Given the description of an element on the screen output the (x, y) to click on. 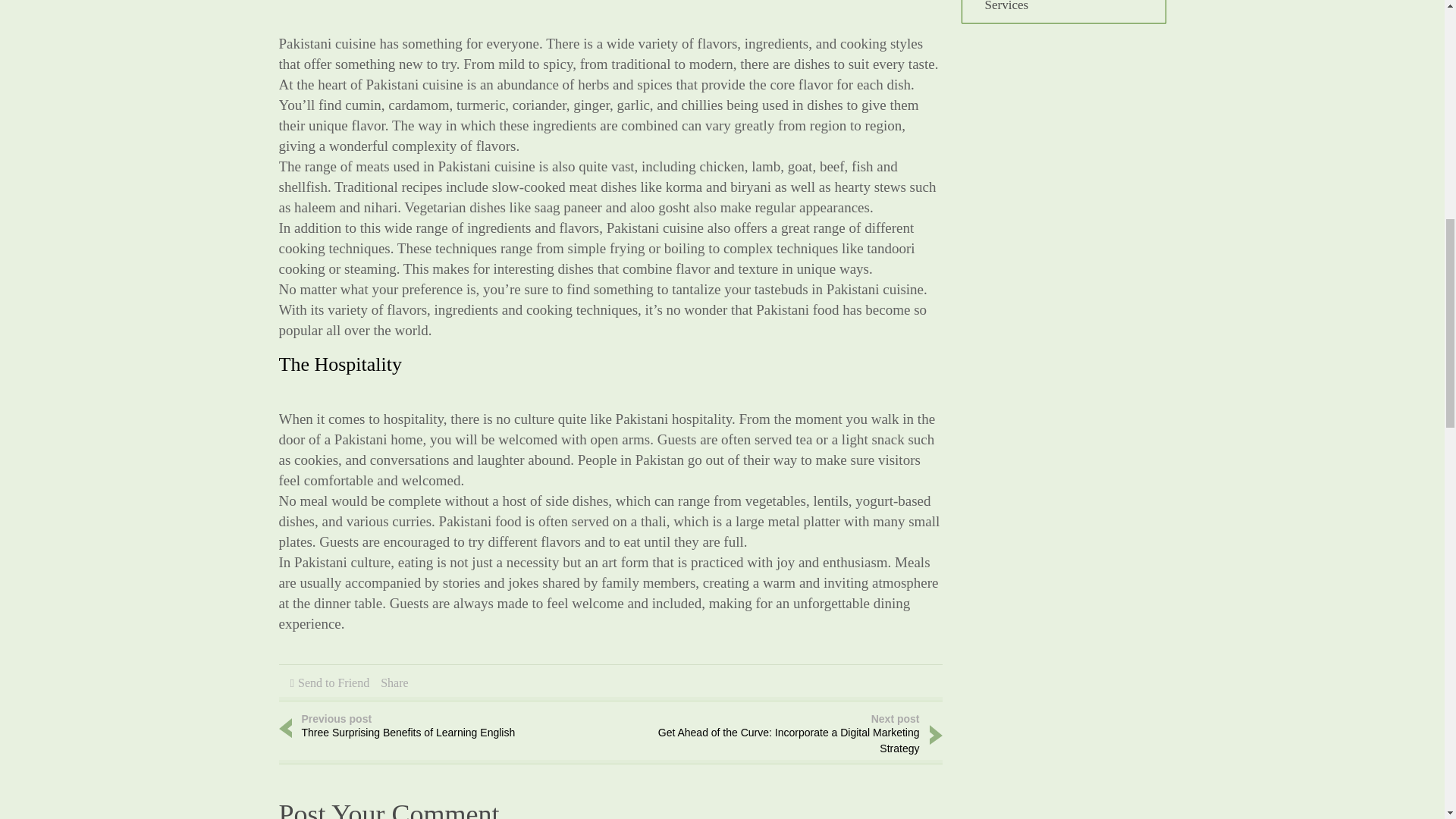
5 Reasons Why You Need Professional Junk Removal Services (1054, 6)
Share (393, 682)
Send to Friend (423, 727)
